Given the description of an element on the screen output the (x, y) to click on. 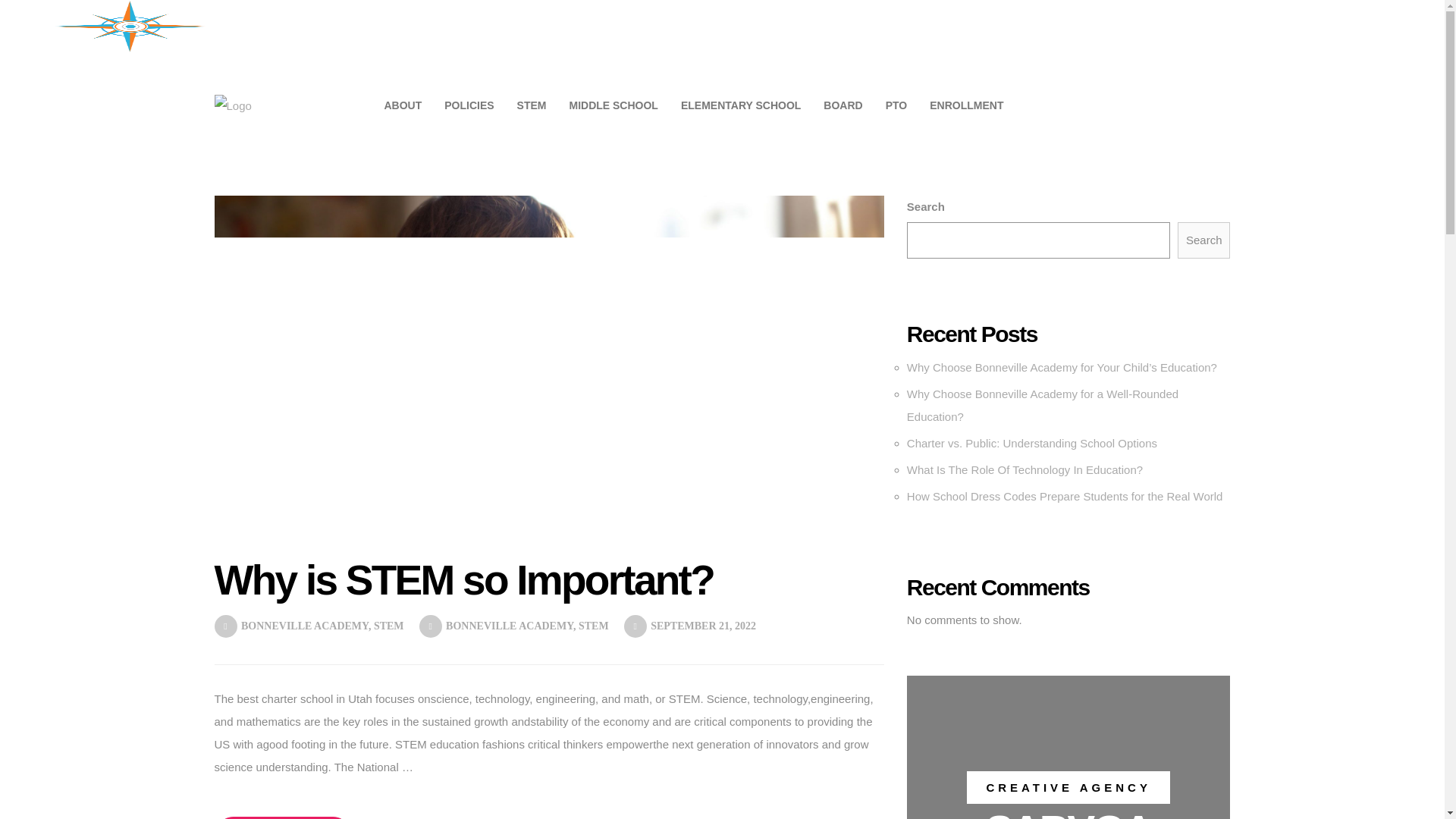
ABOUT (452, 26)
STEM (571, 26)
BOARD (876, 26)
PTO (924, 26)
ENROLLMENT (991, 26)
ELEMENTARY SCHOOL (776, 26)
POLICIES (514, 26)
MIDDLE SCHOOL (650, 26)
